Given the description of an element on the screen output the (x, y) to click on. 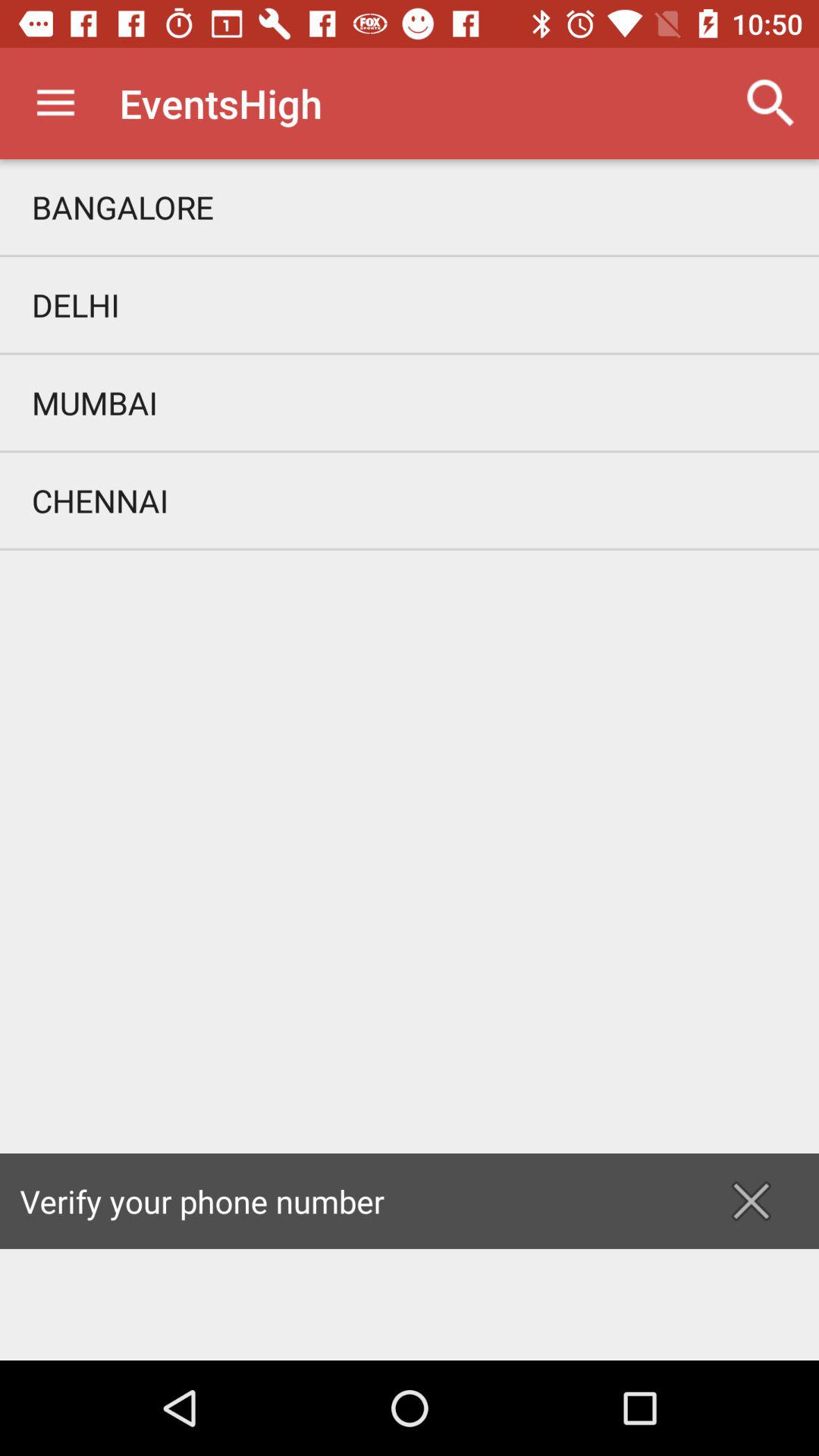
open the item at the top right corner (771, 103)
